Given the description of an element on the screen output the (x, y) to click on. 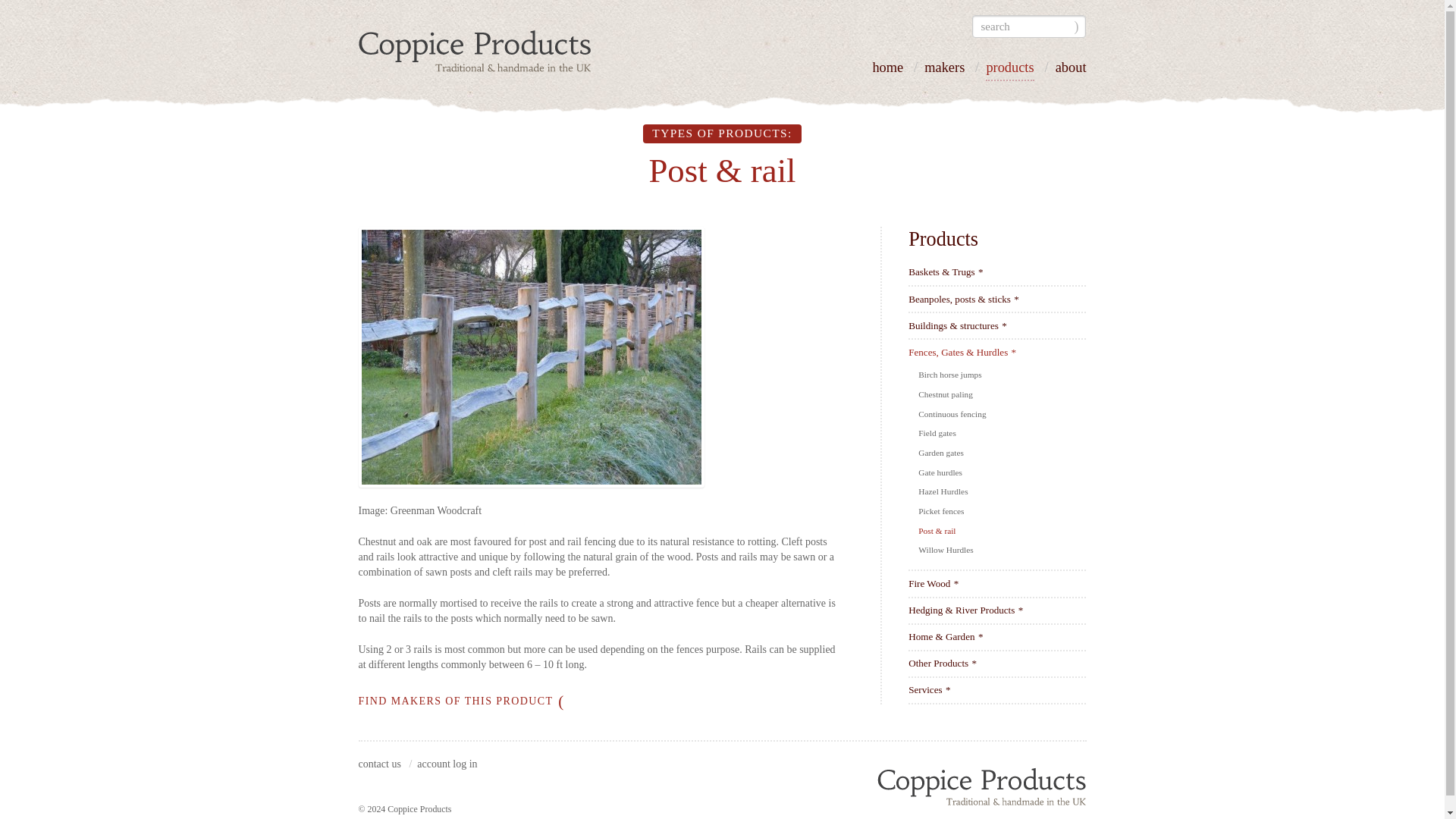
Hazel Hurdles (944, 491)
Continuous fencing (953, 413)
Birch horse jumps (951, 374)
Fire Wood (933, 583)
Willow Hurdles (946, 549)
Garden gates (942, 452)
Gate hurdles (940, 471)
FIND MAKERS OF THIS PRODUCT (461, 701)
Picket fences (942, 510)
Chestnut paling (946, 393)
products (1009, 71)
Field gates (938, 432)
about (1070, 70)
makers (943, 70)
home (887, 70)
